Given the description of an element on the screen output the (x, y) to click on. 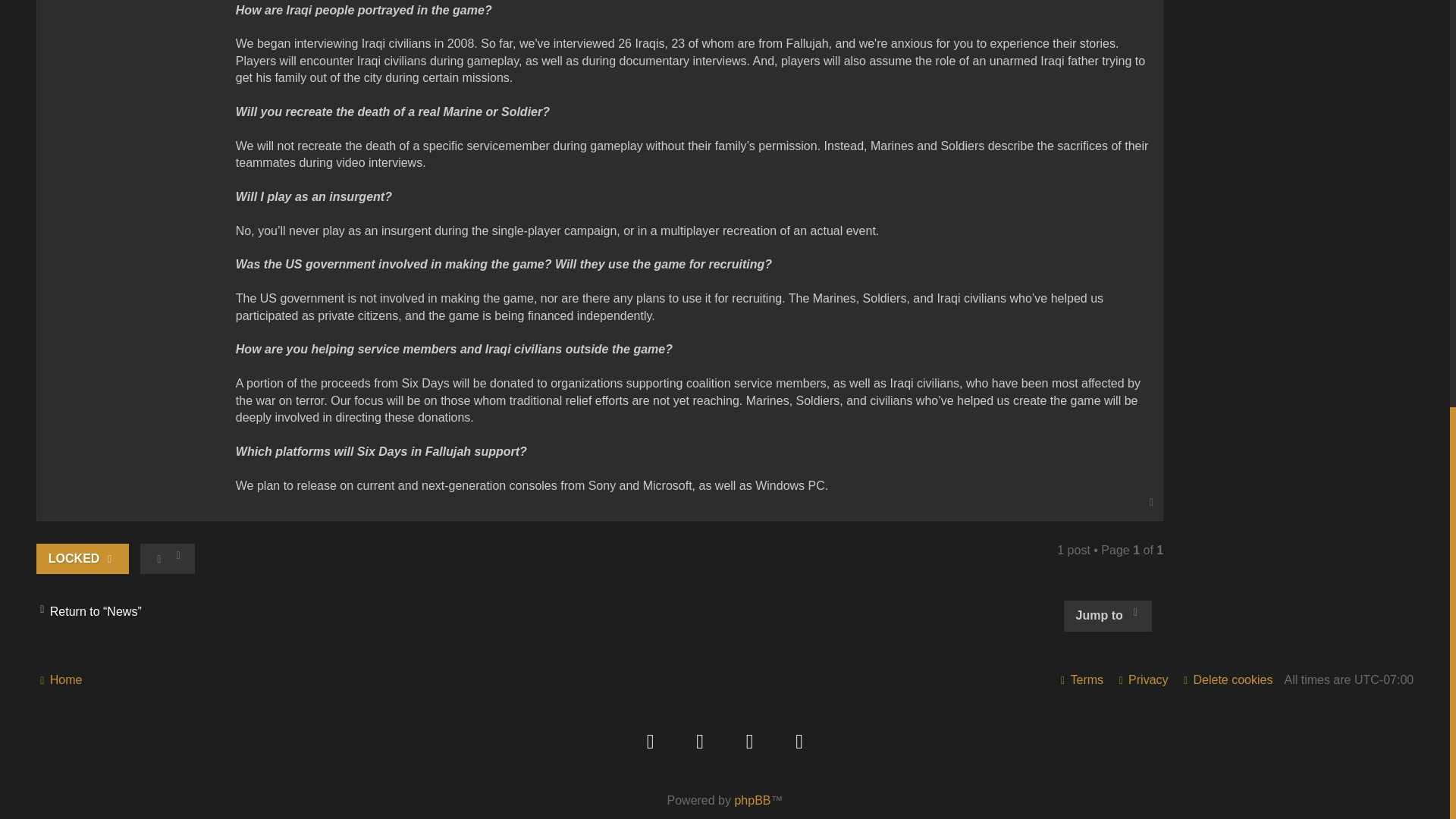
Topic tools (167, 558)
LOCKED (82, 558)
Top (1151, 501)
Top (1151, 501)
